Given the description of an element on the screen output the (x, y) to click on. 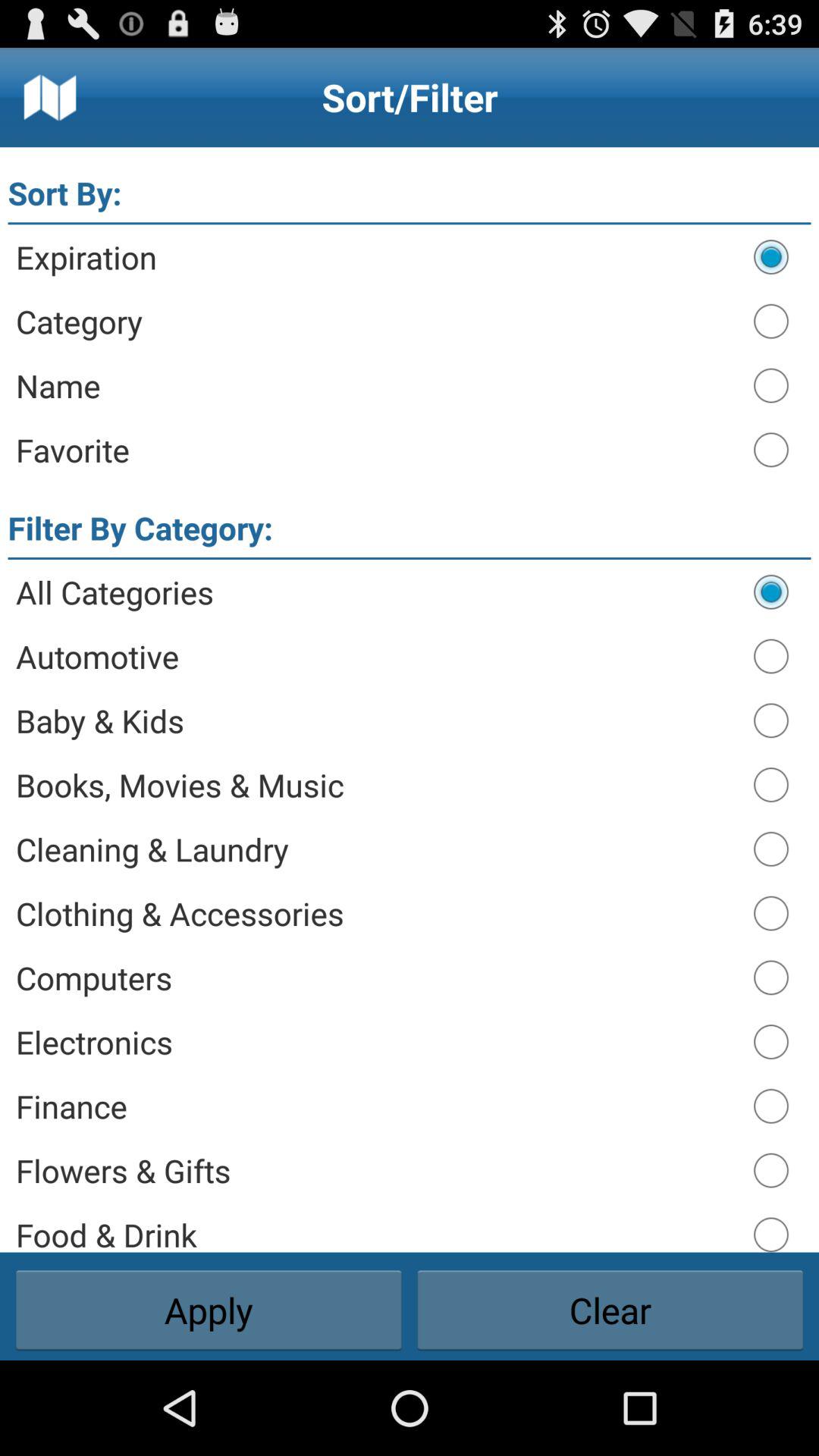
select flowers & gifts app (377, 1170)
